Given the description of an element on the screen output the (x, y) to click on. 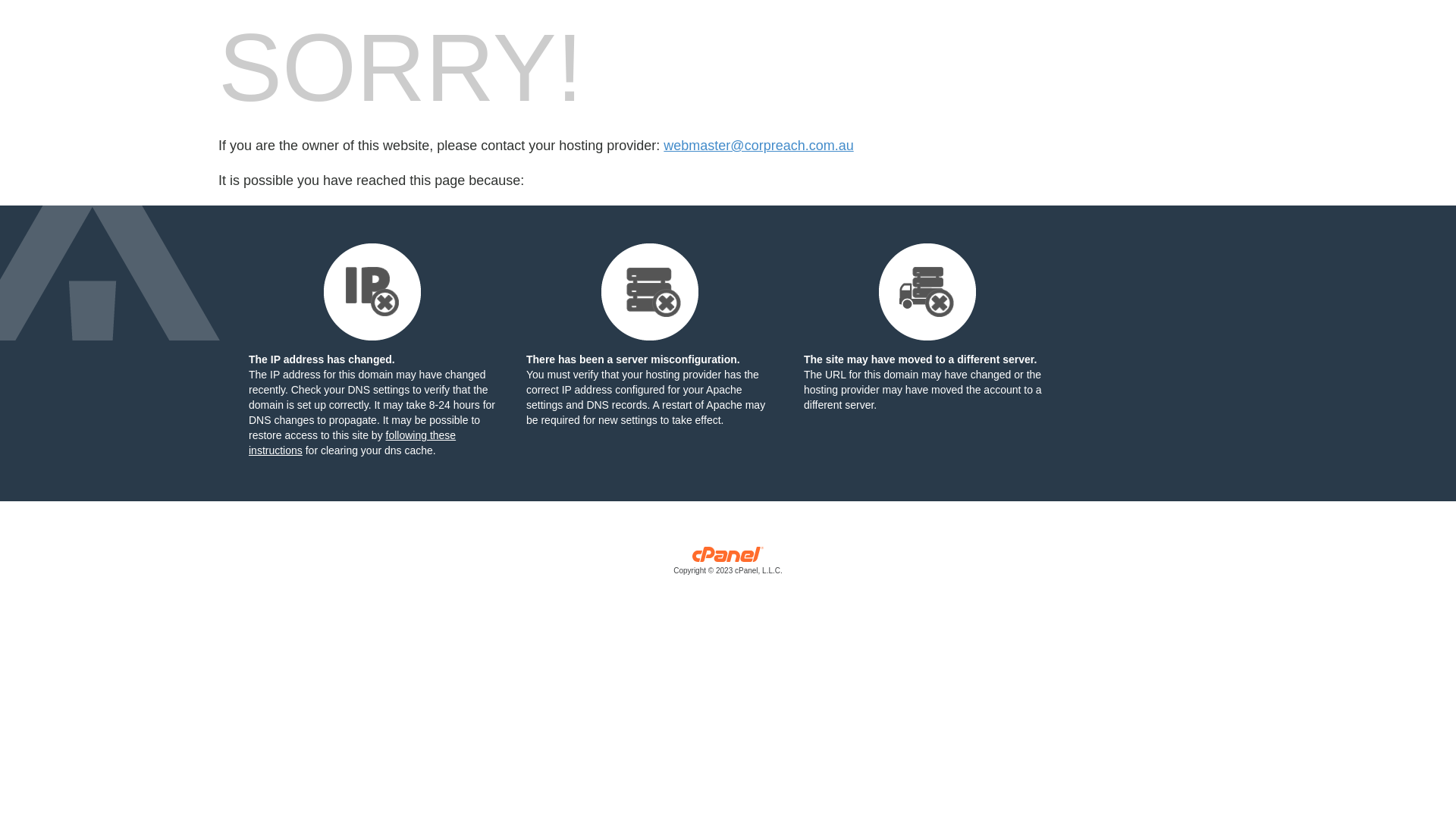
following these instructions Element type: text (351, 442)
webmaster@corpreach.com.au Element type: text (758, 145)
